Given the description of an element on the screen output the (x, y) to click on. 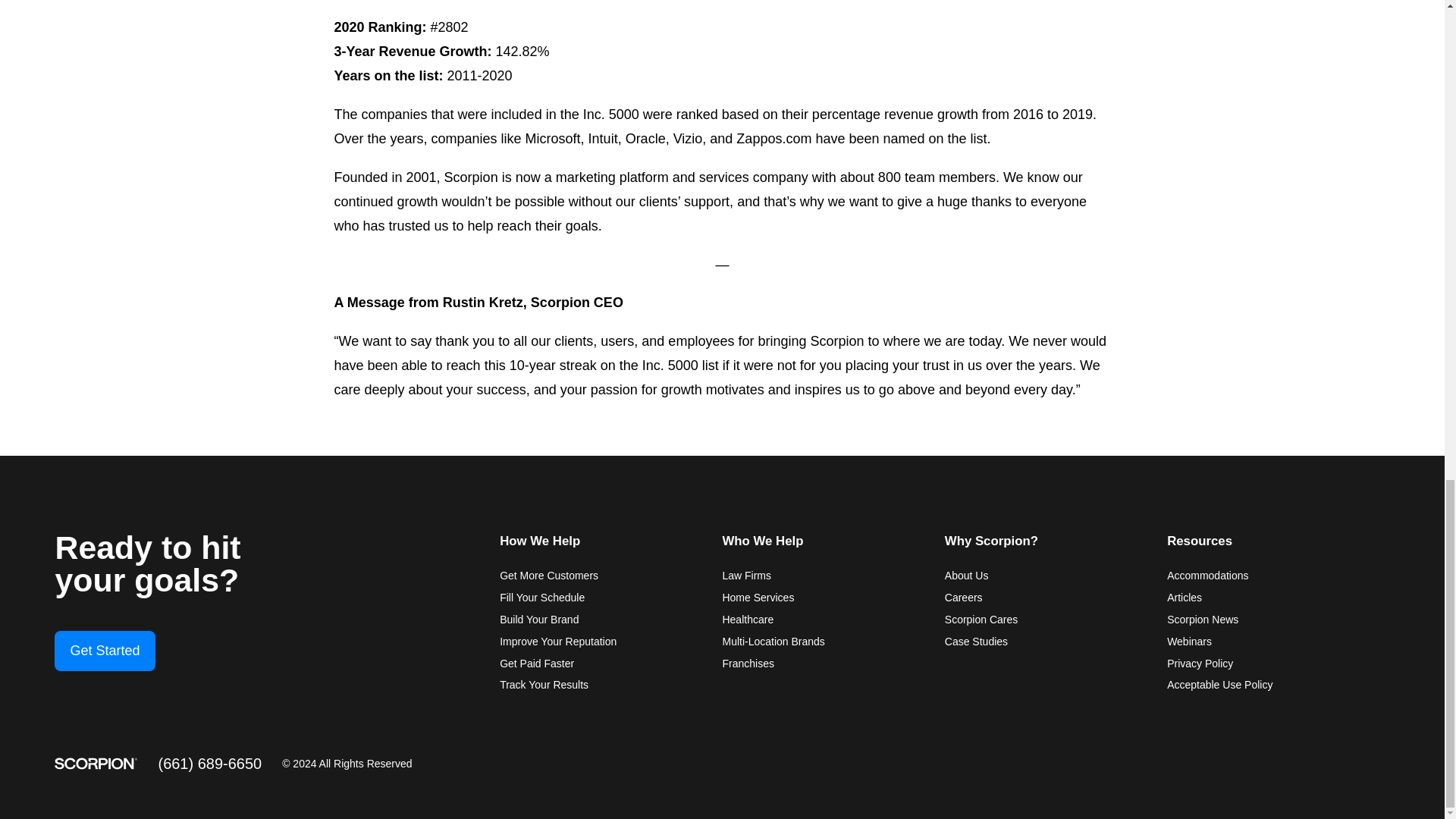
Home (95, 763)
